Given the description of an element on the screen output the (x, y) to click on. 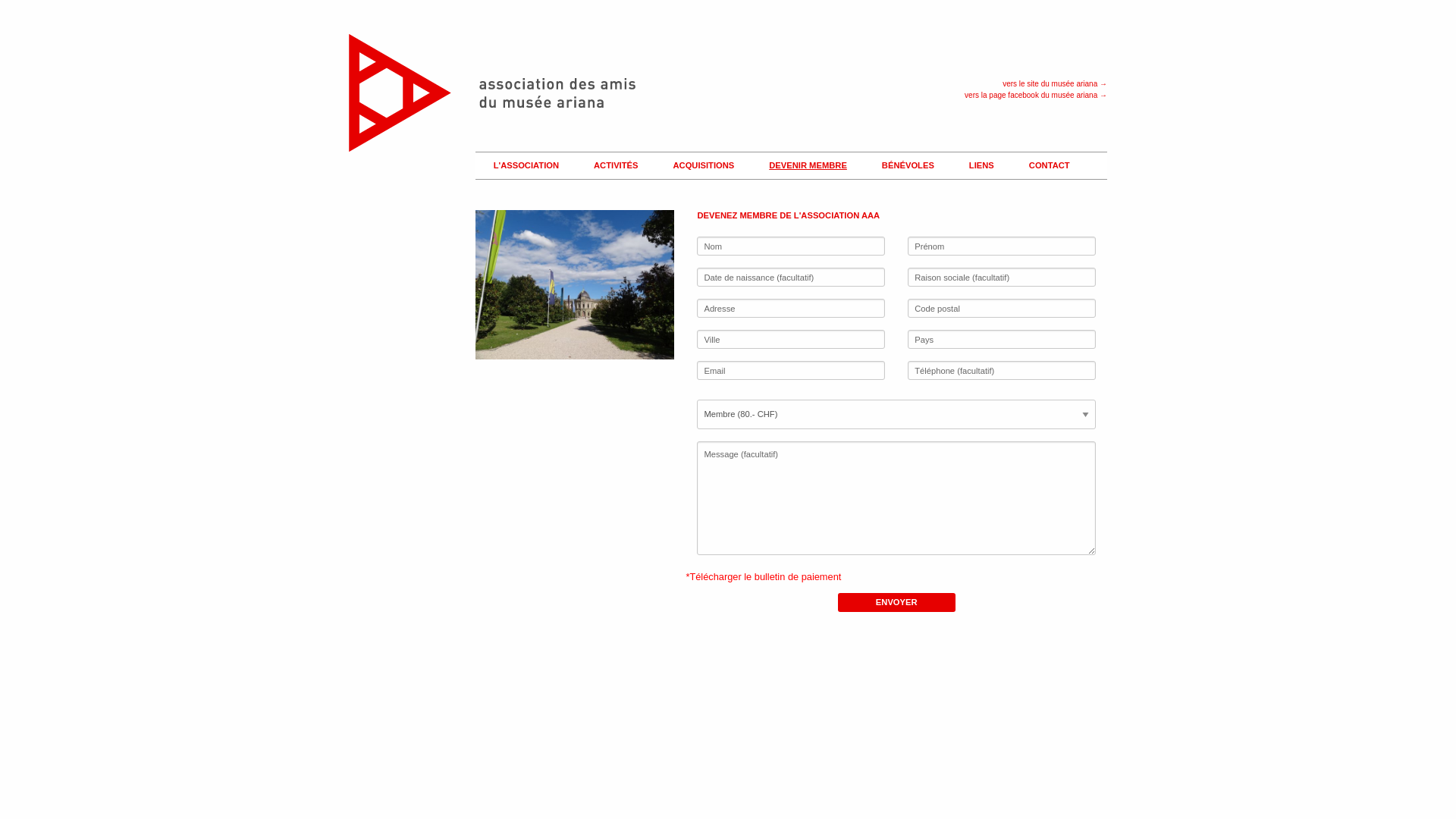
CONTACT Element type: text (1044, 165)
DEVENIR MEMBRE Element type: text (803, 165)
envoyer Element type: text (896, 602)
LIENS Element type: text (977, 165)
ACQUISITIONS Element type: text (698, 165)
L'ASSOCIATION Element type: text (521, 165)
